Given the description of an element on the screen output the (x, y) to click on. 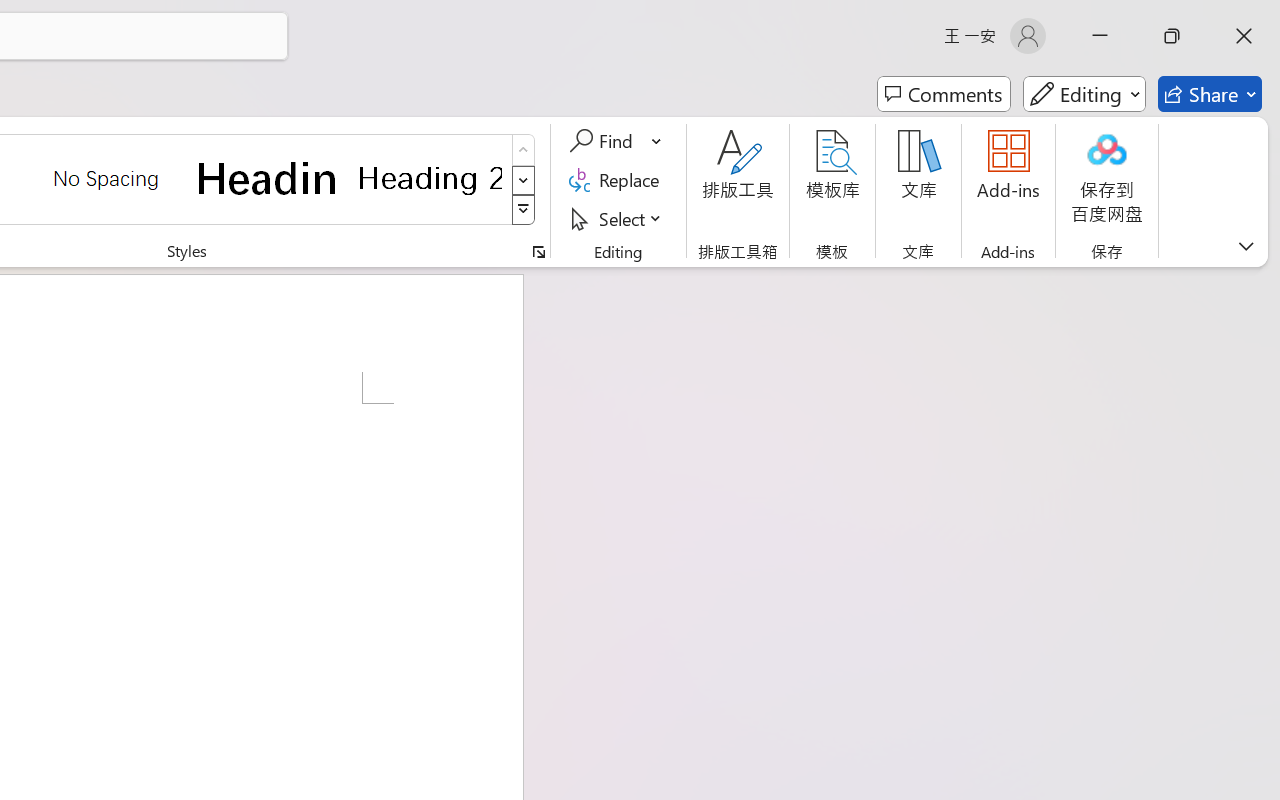
Replace... (617, 179)
Select (618, 218)
